Given the description of an element on the screen output the (x, y) to click on. 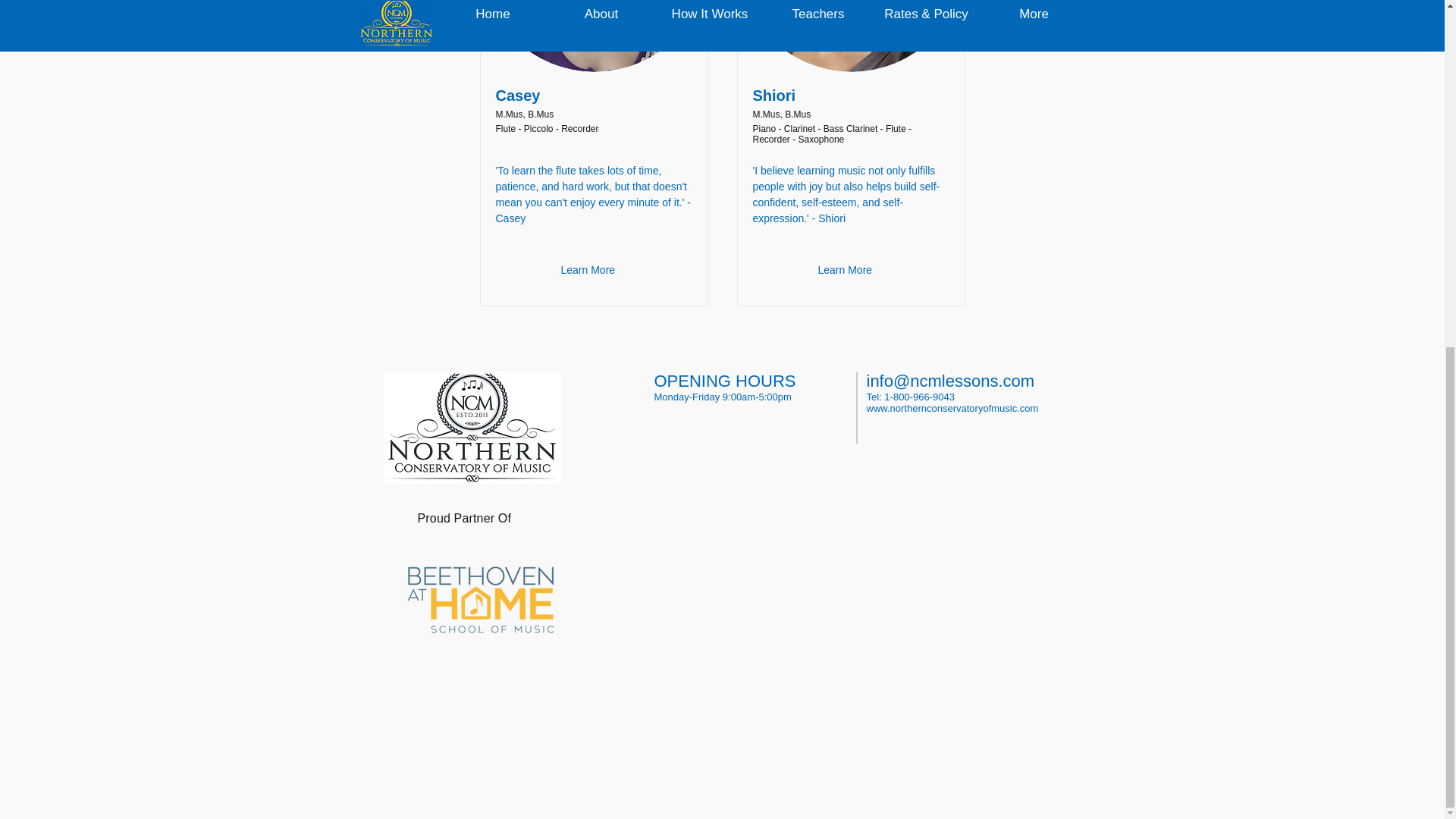
Learn More (845, 270)
www.northernconservatoryofmusic.com (952, 408)
Learn More (589, 270)
Logo-03.png (480, 599)
